Given the description of an element on the screen output the (x, y) to click on. 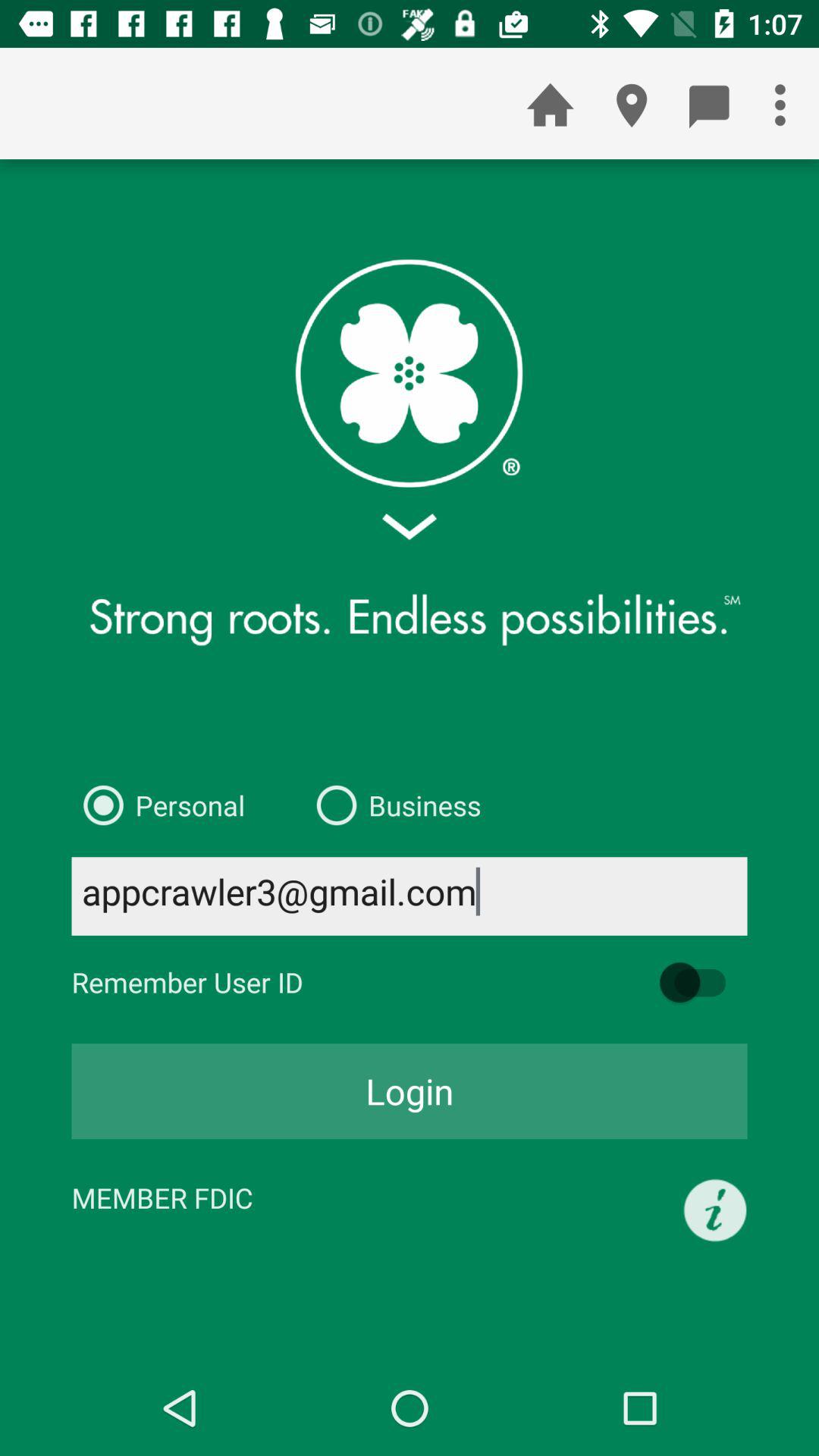
select item above the appcrawler3@gmail.com item (158, 805)
